Given the description of an element on the screen output the (x, y) to click on. 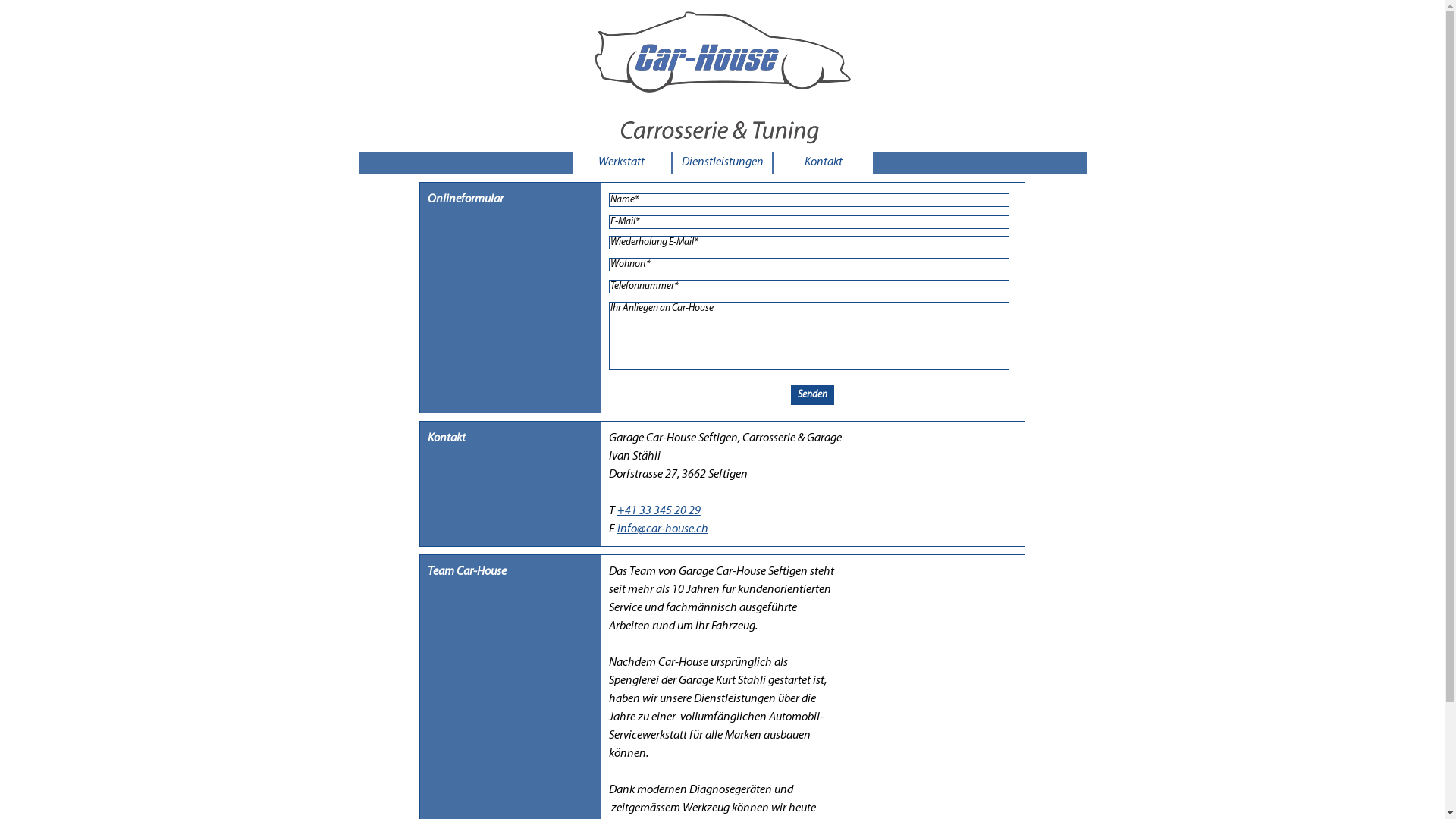
Car-House-Logo Element type: hover (718, 75)
+41 33 345 20 29 Element type: text (658, 511)
Dienstleistungen Element type: text (722, 162)
Senden Element type: text (812, 394)
Werkstatt Element type: text (620, 162)
info@car-house.ch Element type: text (662, 529)
Kontakt Element type: text (822, 162)
